Given the description of an element on the screen output the (x, y) to click on. 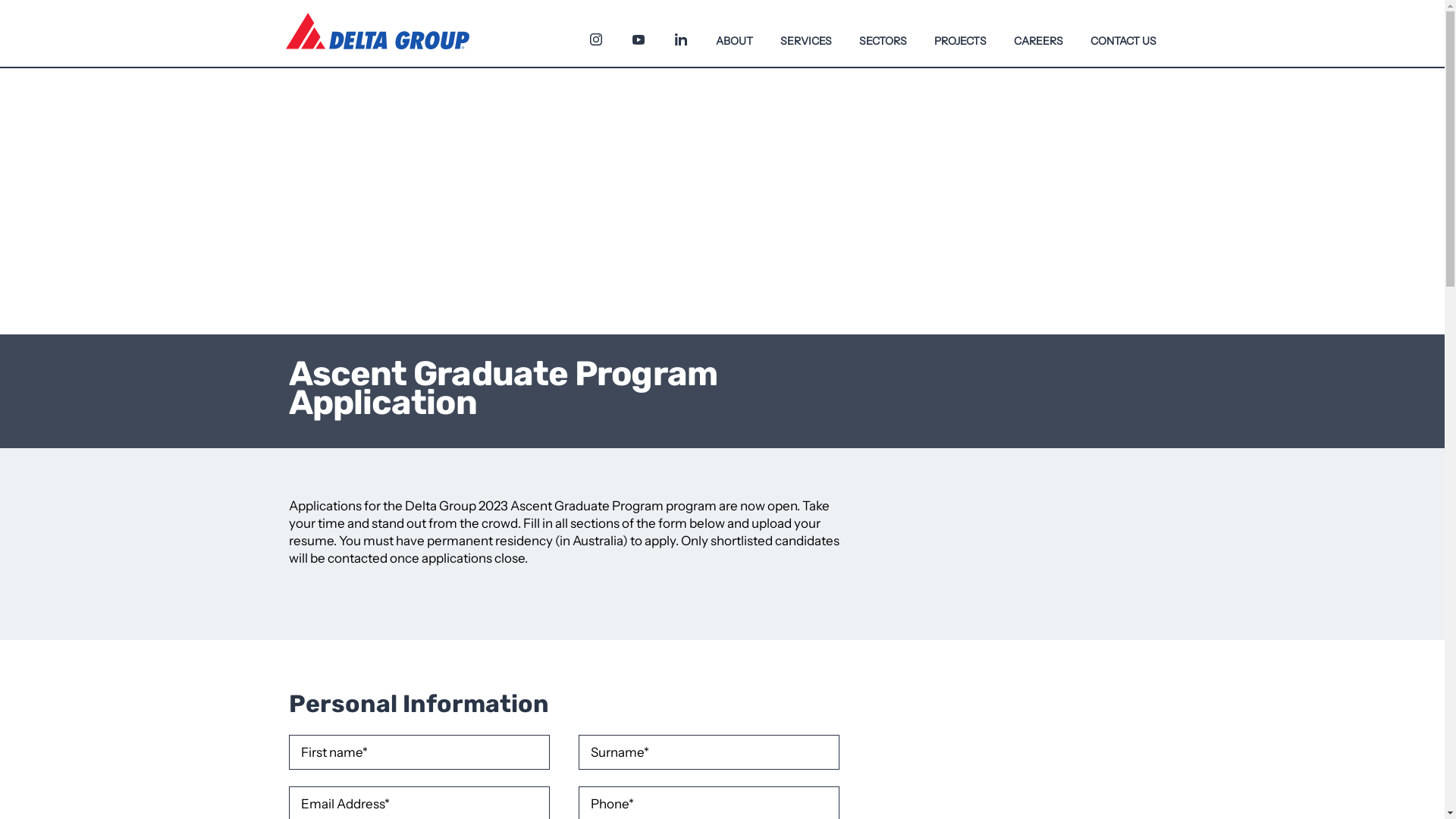
CAREERS Element type: text (1037, 33)
CONTACT US Element type: text (1123, 33)
ABOUT Element type: text (734, 33)
SERVICES Element type: text (804, 33)
SECTORS Element type: text (881, 33)
PROJECTS Element type: text (960, 33)
